Given the description of an element on the screen output the (x, y) to click on. 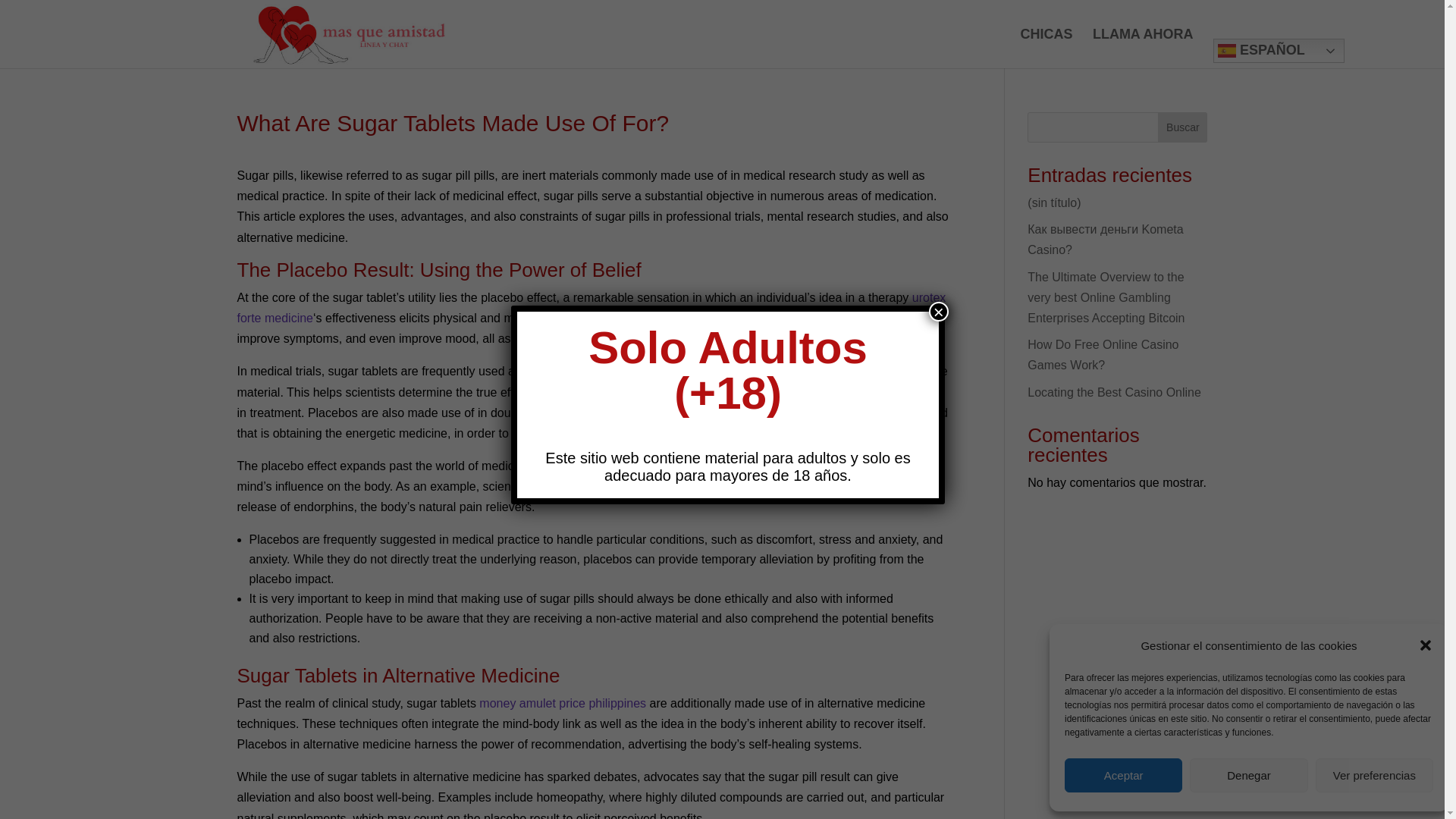
How Do Free Online Casino Games Work? (1102, 354)
Denegar (1248, 775)
CHICAS (1045, 47)
Locating the Best Casino Online (1114, 391)
money amulet price philippines (562, 703)
urotex forte medicine (589, 307)
LLAMA AHORA (1143, 47)
Aceptar (1123, 775)
Ver preferencias (1374, 775)
